Given the description of an element on the screen output the (x, y) to click on. 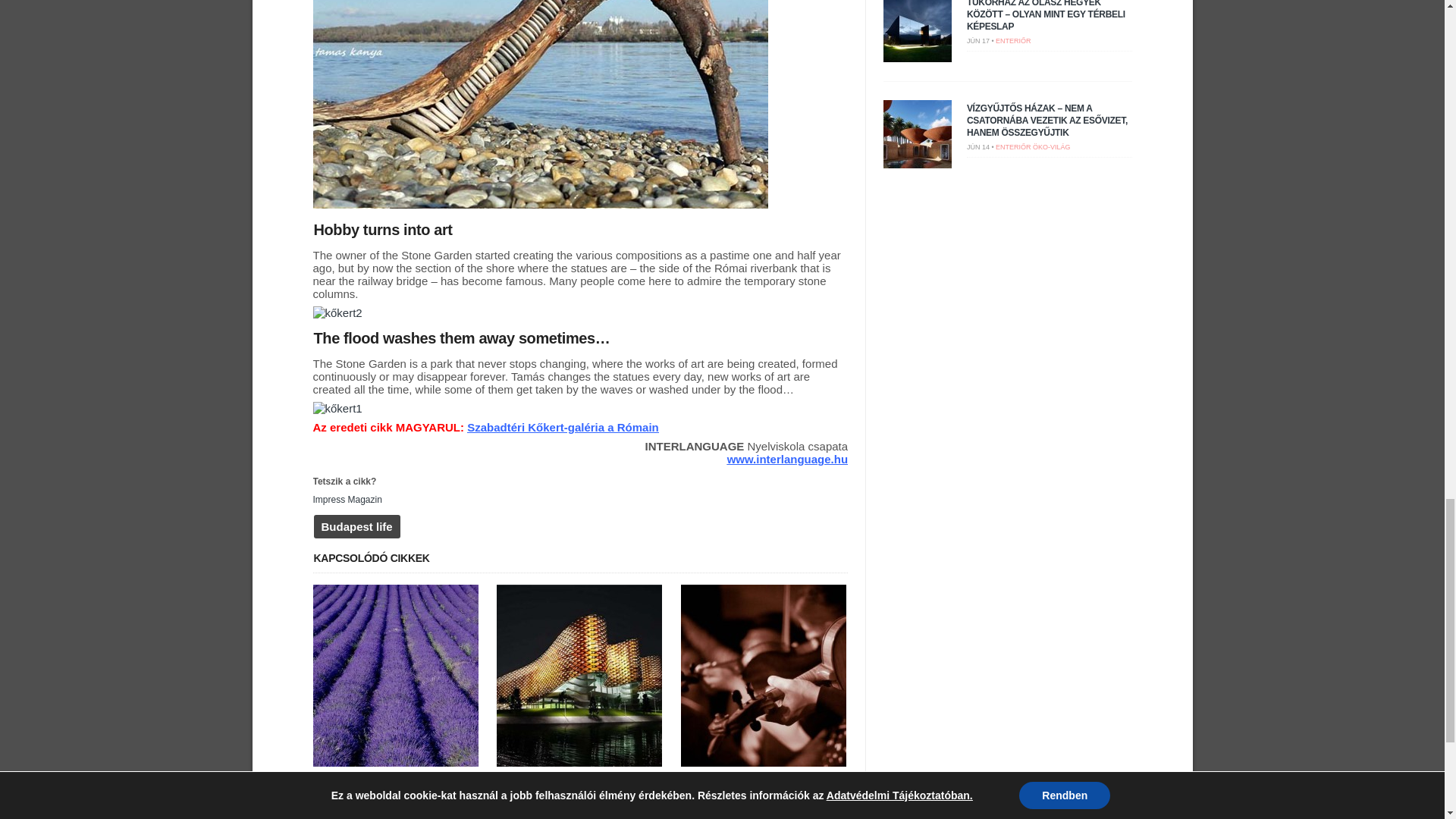
Hungarian folk pubs in the city centre (761, 780)
Impress Magazin (347, 499)
Hungarian folk pubs in the city centre (761, 780)
The Lavender Festival in Tihany has started (395, 763)
The Lavender Festival in Tihany has started (389, 786)
Budapest life (357, 526)
The Lavender Festival in Tihany has started (389, 786)
Hungarian folk pubs in the city centre (763, 763)
www.interlanguage.hu (786, 459)
